Given the description of an element on the screen output the (x, y) to click on. 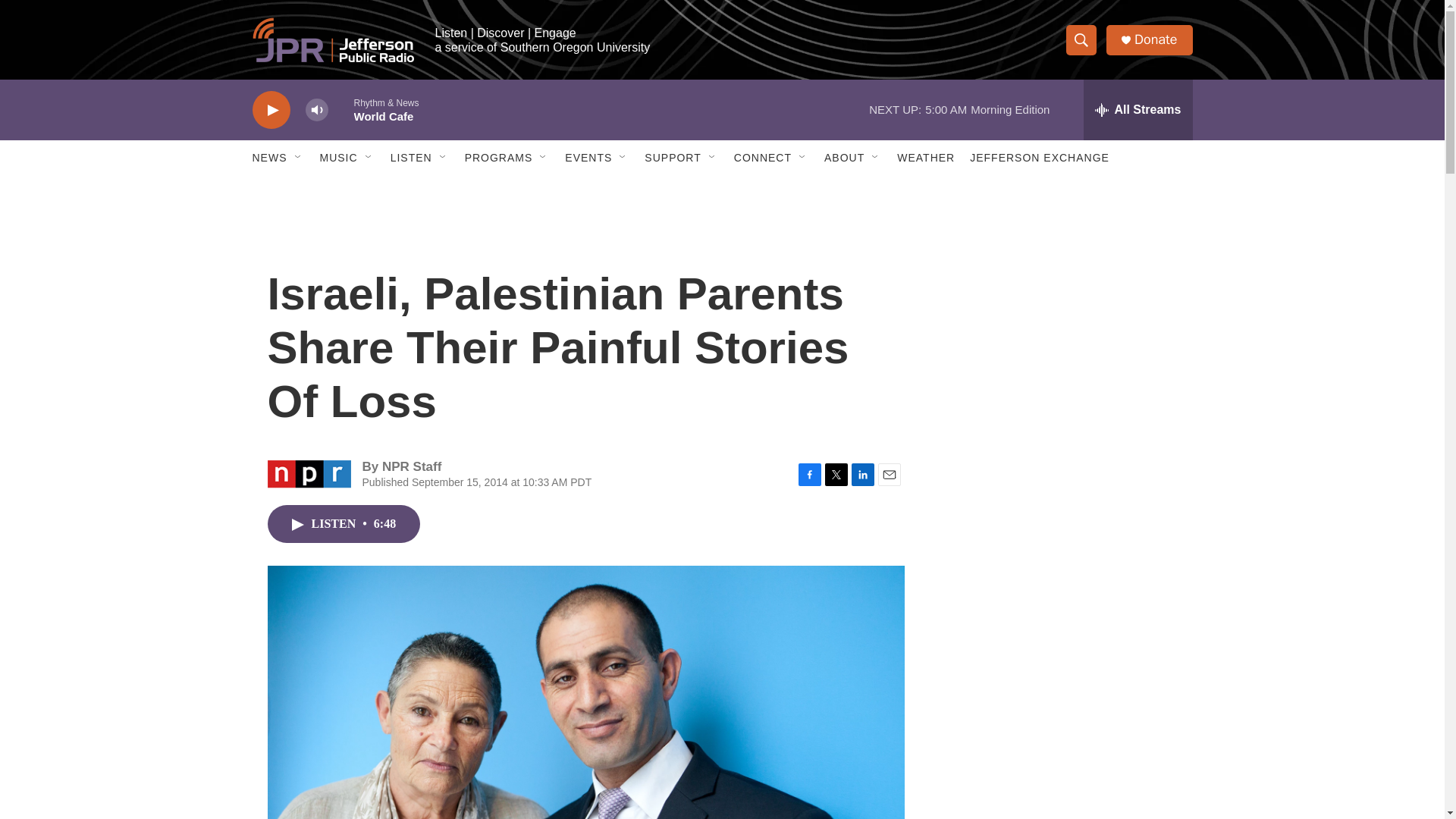
3rd party ad content (1062, 316)
3rd party ad content (1062, 740)
3rd party ad content (1062, 536)
